Given the description of an element on the screen output the (x, y) to click on. 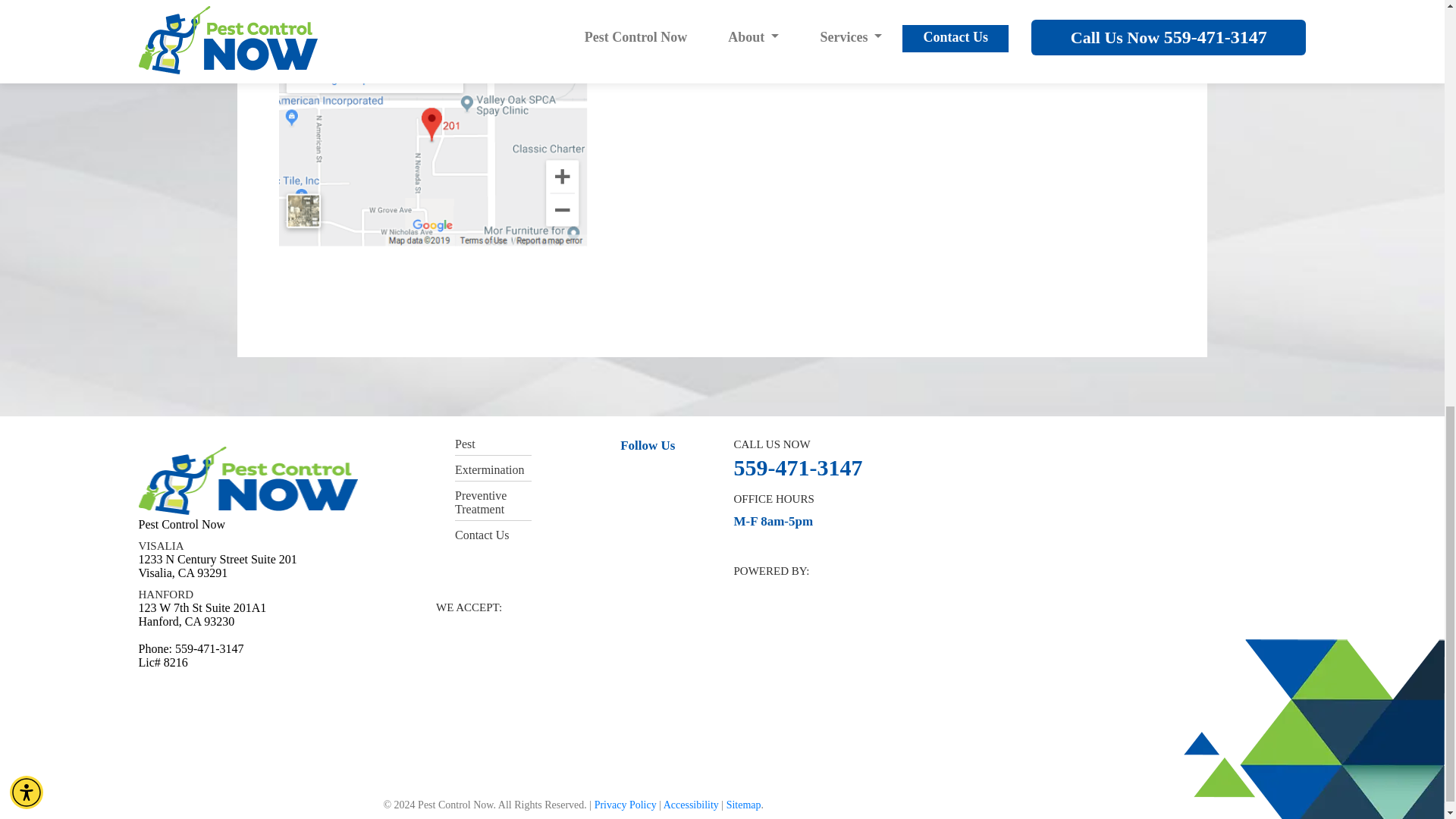
Pest (465, 443)
Accessibility (691, 804)
Sitemap (743, 804)
Extermination (489, 469)
559-471-3147 (797, 467)
Privacy Policy (625, 804)
Contact Us (702, 60)
Contact Us (702, 60)
Contact Us (481, 534)
Preventive Treatment (480, 501)
